Given the description of an element on the screen output the (x, y) to click on. 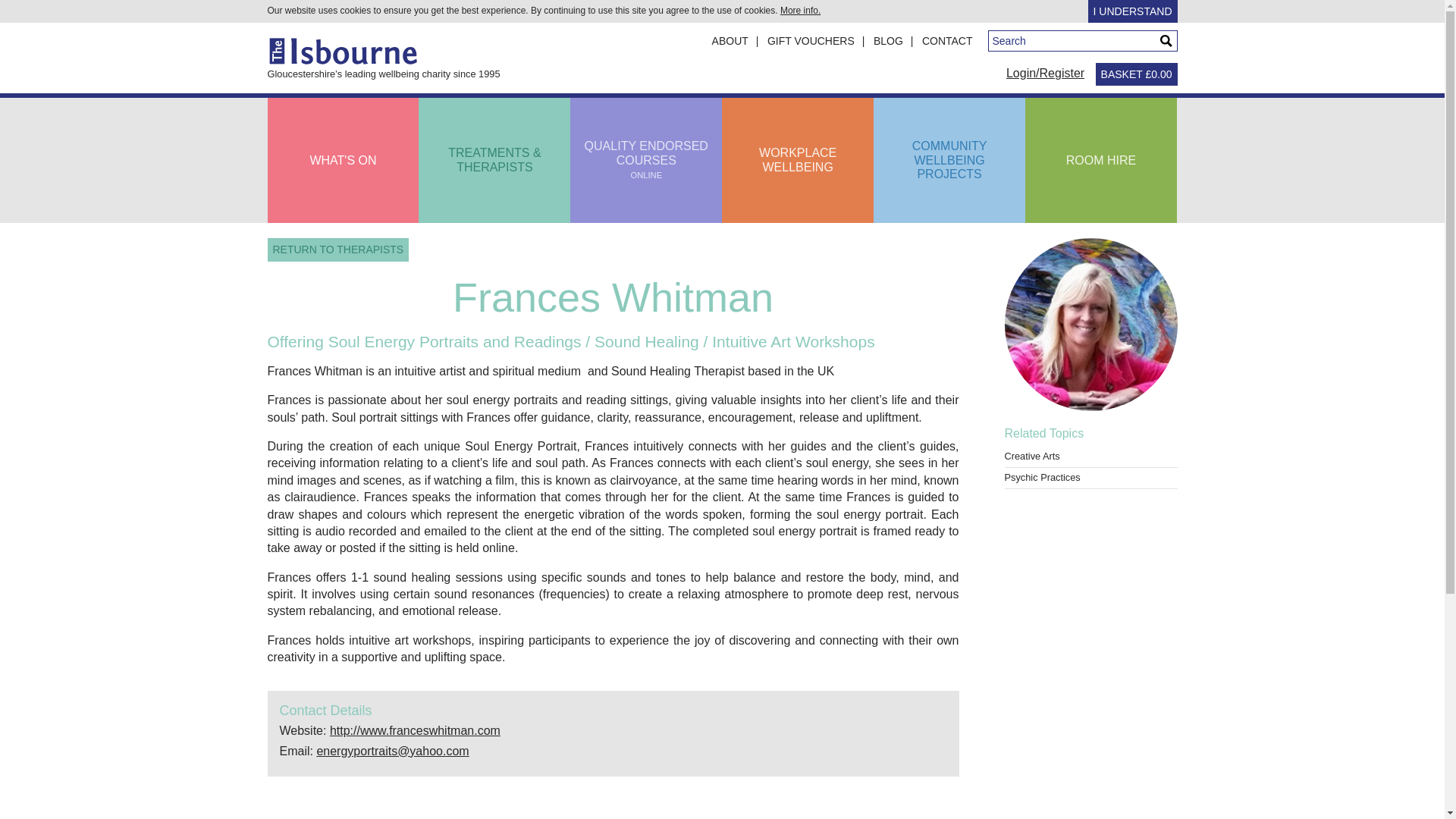
Psychic Practices (1042, 477)
Creative Arts (1031, 455)
ABOUT (737, 40)
I UNDERSTAND (1132, 11)
COMMUNITY WELLBEING PROJECTS (646, 159)
More info. (949, 159)
CONTACT (800, 9)
WHAT'S ON (946, 40)
RETURN TO THERAPISTS (342, 160)
